Given the description of an element on the screen output the (x, y) to click on. 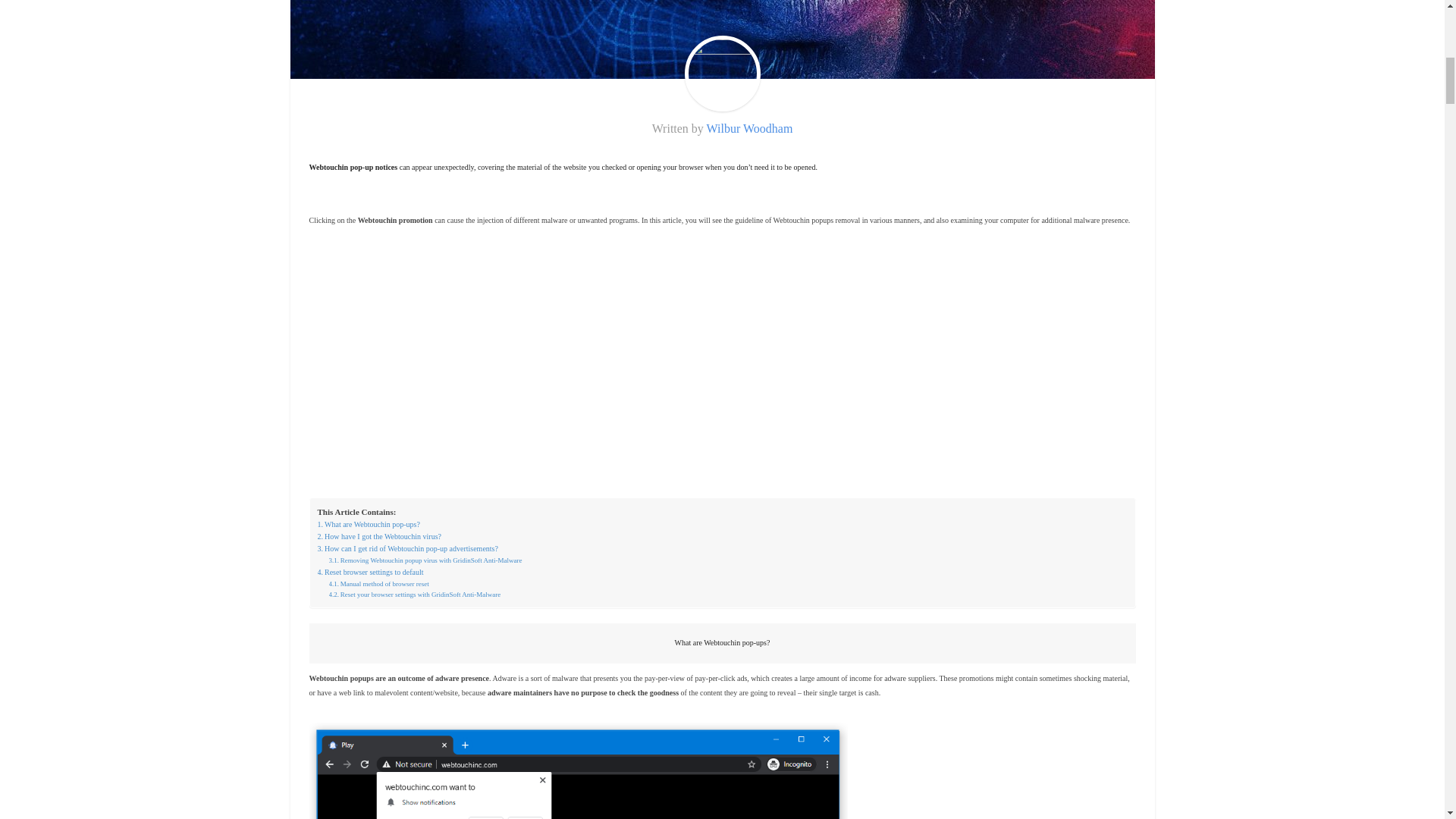
Reset browser settings to default (370, 572)
How have I got the Webtouchin virus? (379, 536)
Reset your browser settings with GridinSoft Anti-Malware (414, 593)
Manual method of browser reset (379, 583)
Removing Webtouchin popup virus with GridinSoft Anti-Malware (425, 560)
How can I get rid of Webtouchin pop-up advertisements? (407, 548)
Reset browser settings to default (370, 572)
Reset your browser settings with GridinSoft Anti-Malware (414, 593)
How have I got the Webtouchin virus? (379, 536)
Wilbur Woodham (749, 128)
